Given the description of an element on the screen output the (x, y) to click on. 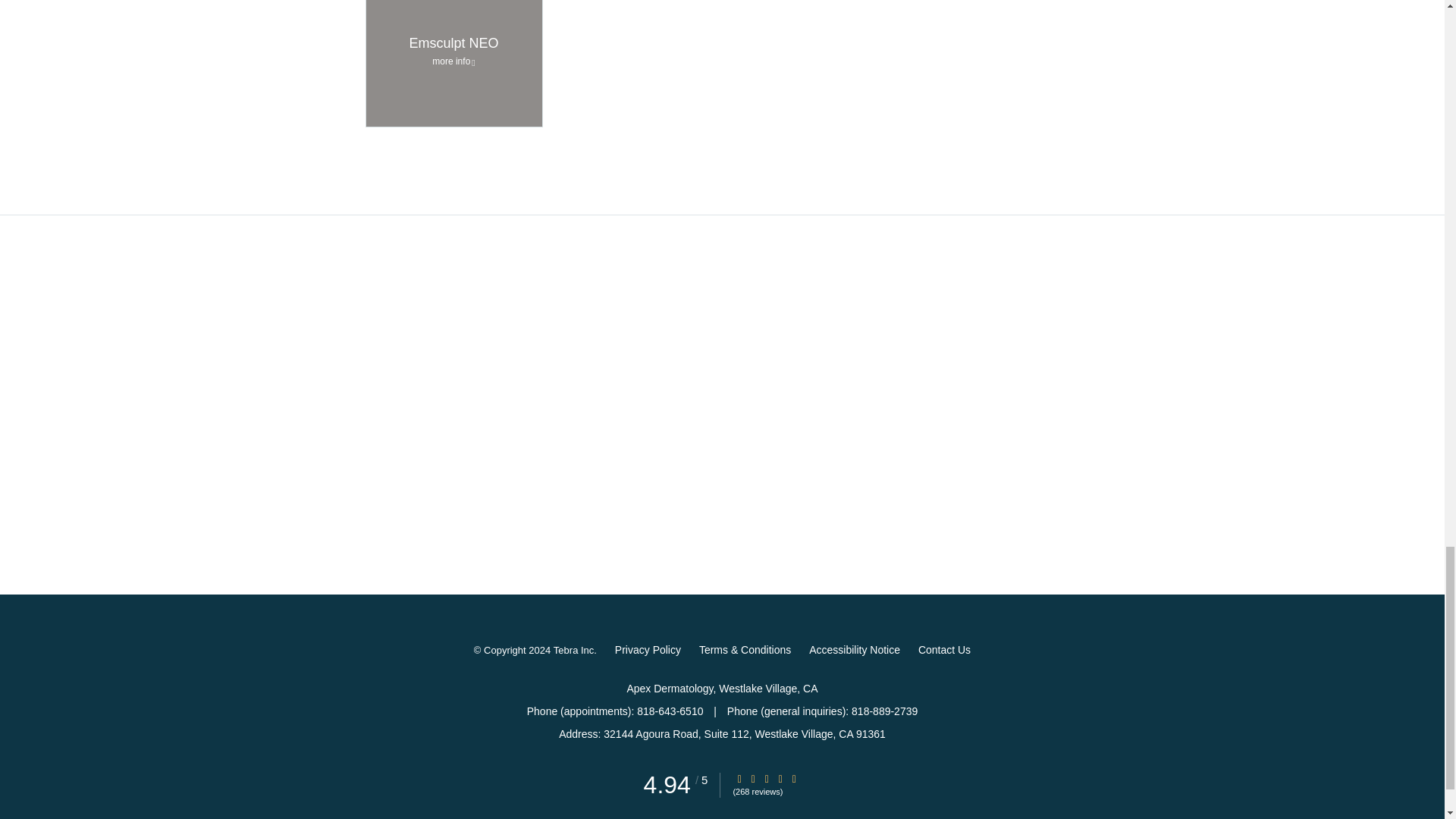
Star Rating (766, 778)
Star Rating (780, 778)
Star Rating (738, 778)
Star Rating (794, 778)
Star Rating (753, 778)
